Given the description of an element on the screen output the (x, y) to click on. 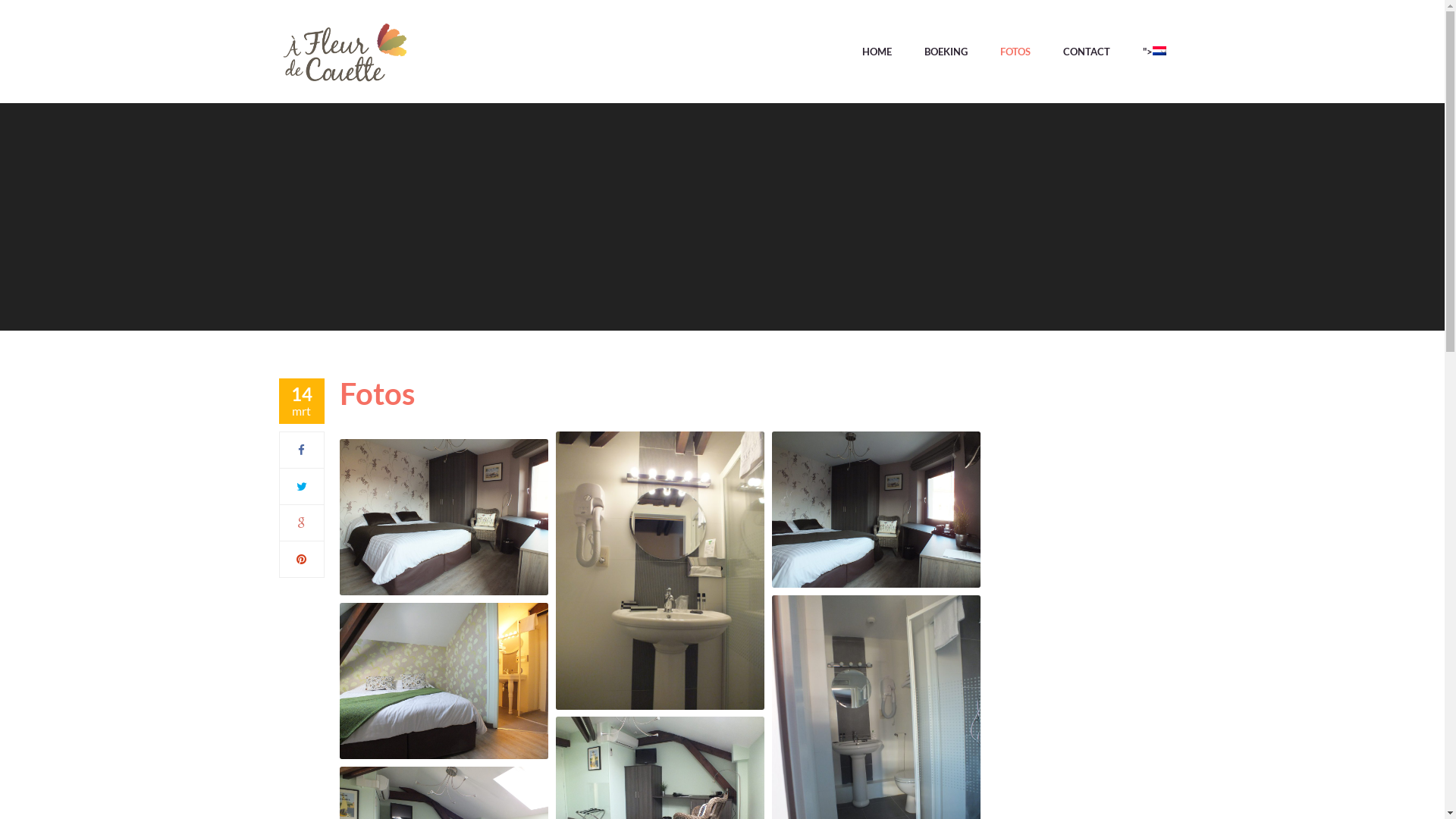
"> Element type: text (1145, 54)
BOEKING Element type: text (945, 54)
Google Plus Element type: hover (301, 522)
Nederlands Element type: hover (1159, 50)
HOME Element type: text (876, 54)
Pinterest Element type: hover (301, 558)
FOTOS Element type: text (1014, 54)
CONTACT Element type: text (1086, 54)
Facebook Element type: hover (301, 449)
Twitter Element type: hover (300, 485)
afleurdecouette -  Element type: hover (345, 54)
